Given the description of an element on the screen output the (x, y) to click on. 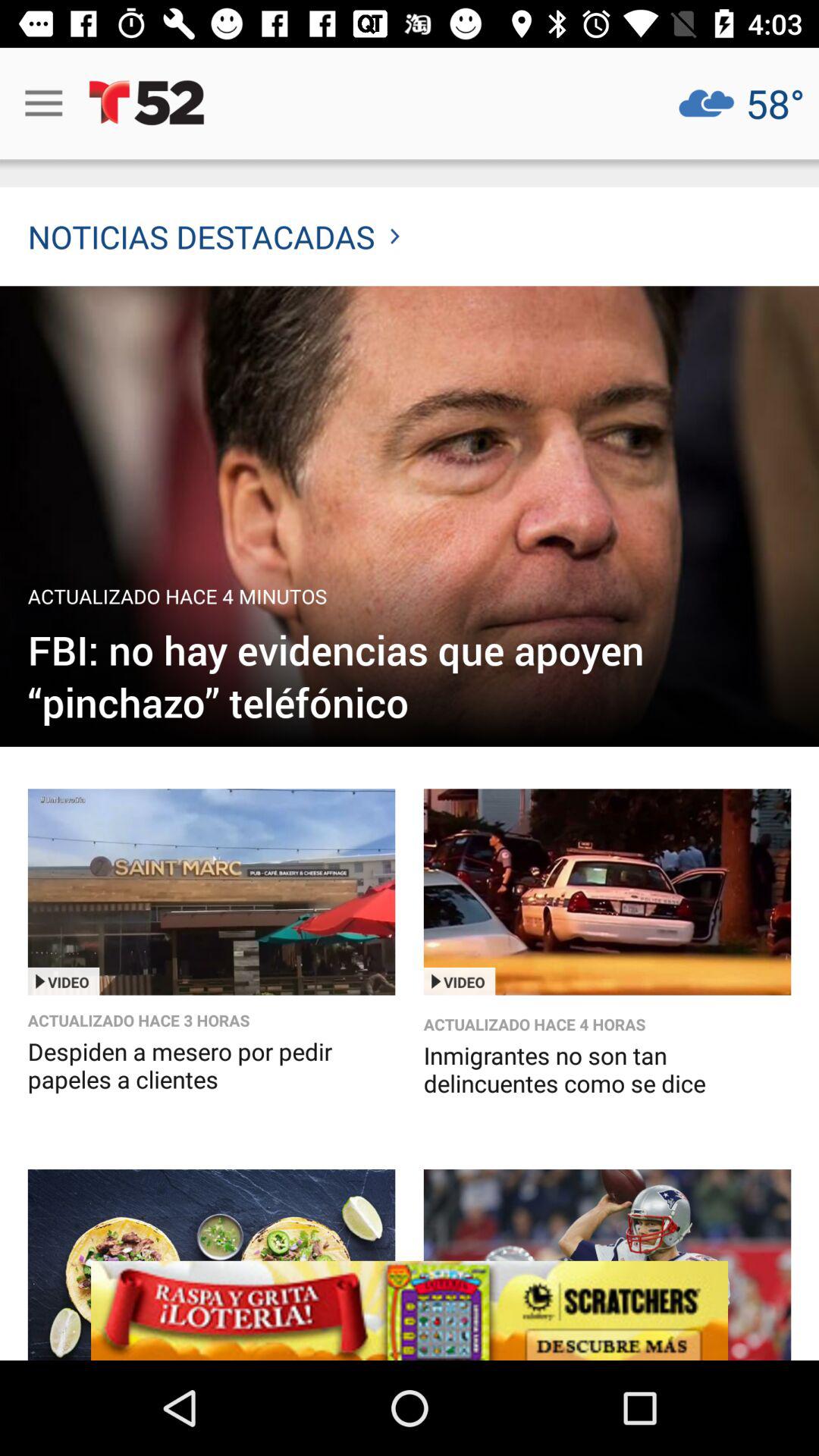
open advertisement (211, 1264)
